Given the description of an element on the screen output the (x, y) to click on. 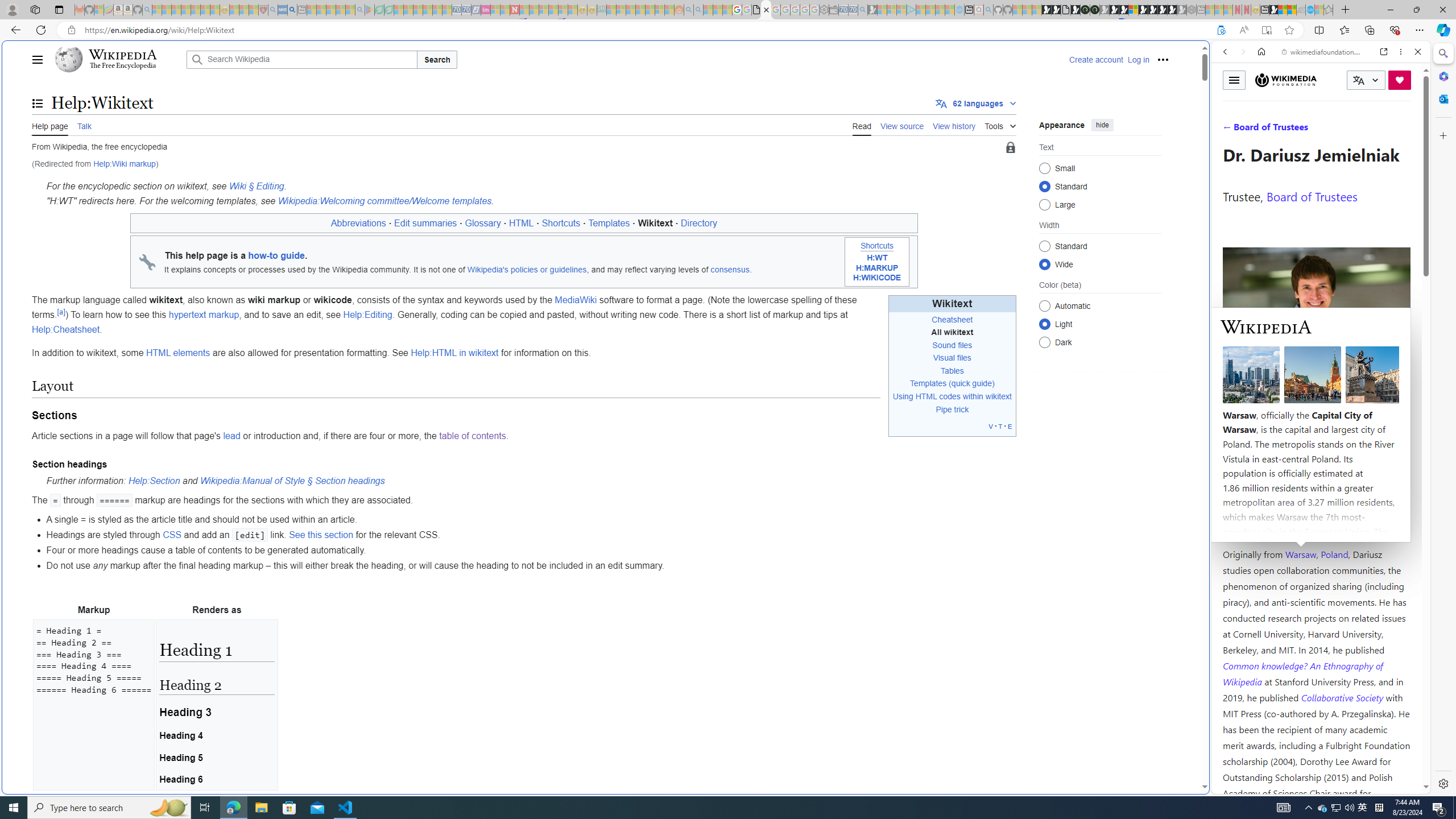
Tabs you've opened (885, 151)
Directory (699, 222)
Shortcuts (876, 245)
Templates (928, 383)
Help:Wiki markup (124, 163)
Read (861, 124)
Wikipedia:Welcoming committee/Welcome templates (385, 201)
